Given the description of an element on the screen output the (x, y) to click on. 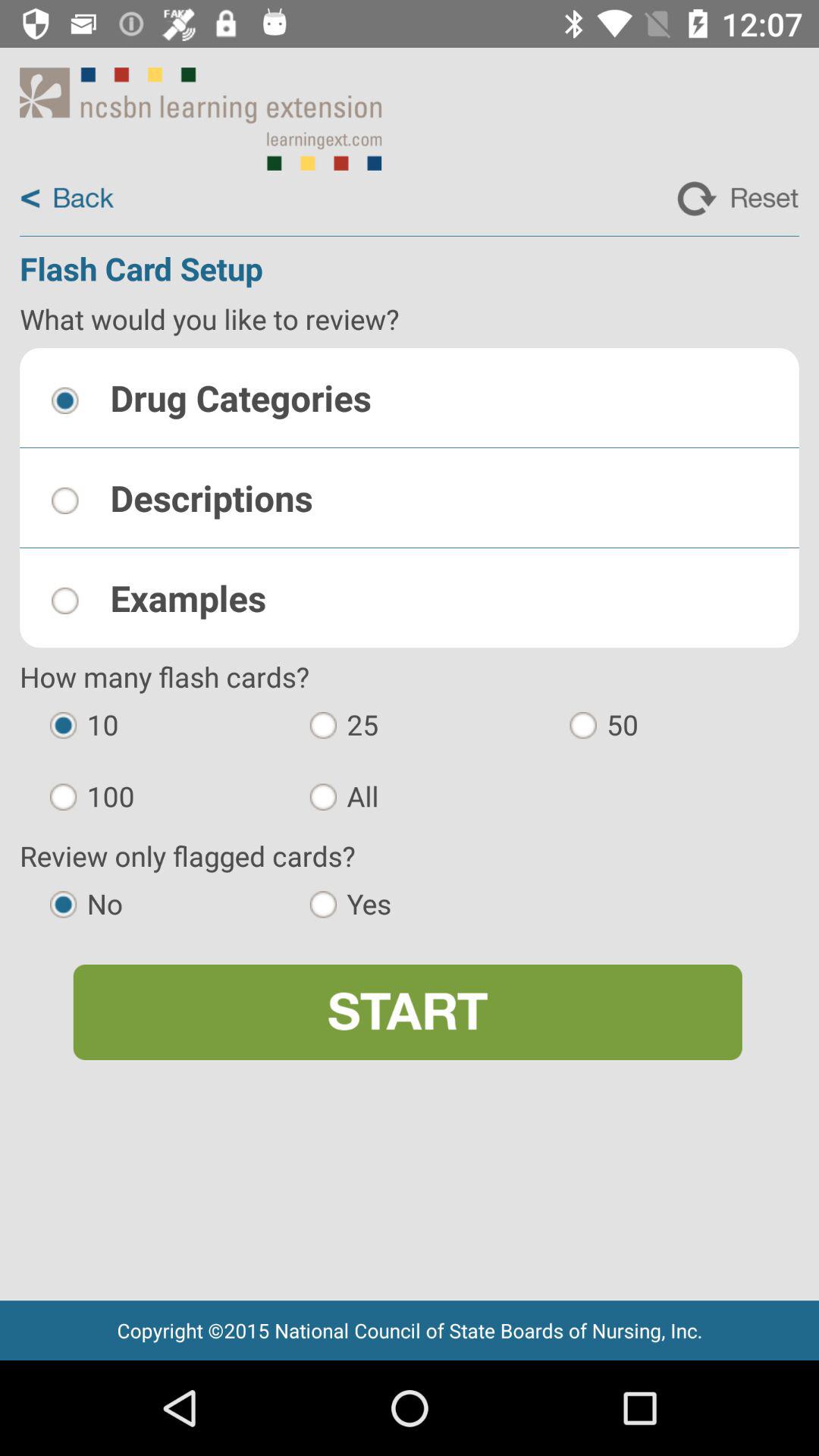
reset page (738, 198)
